Given the description of an element on the screen output the (x, y) to click on. 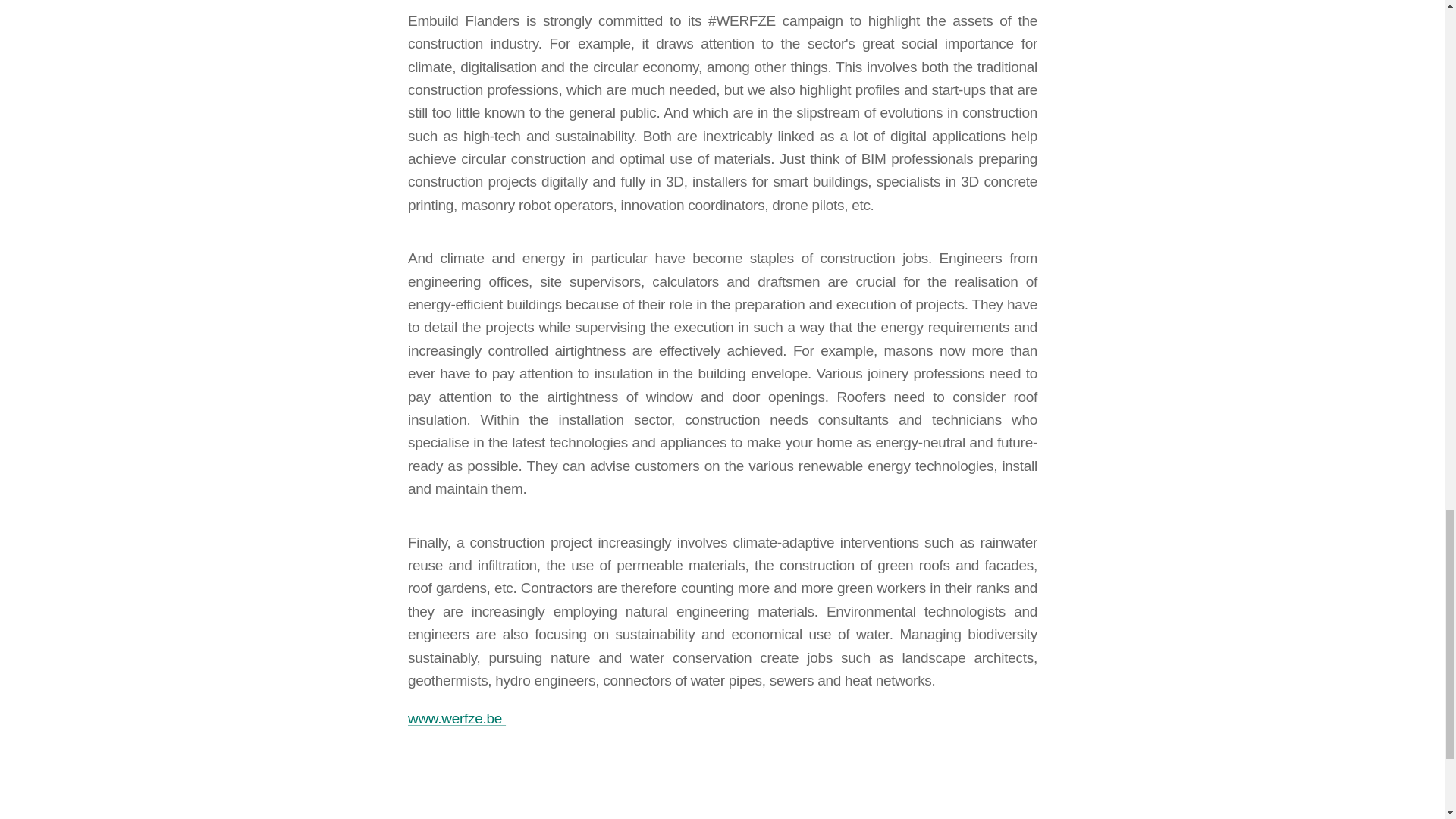
www.werfze.be  (456, 719)
